Given the description of an element on the screen output the (x, y) to click on. 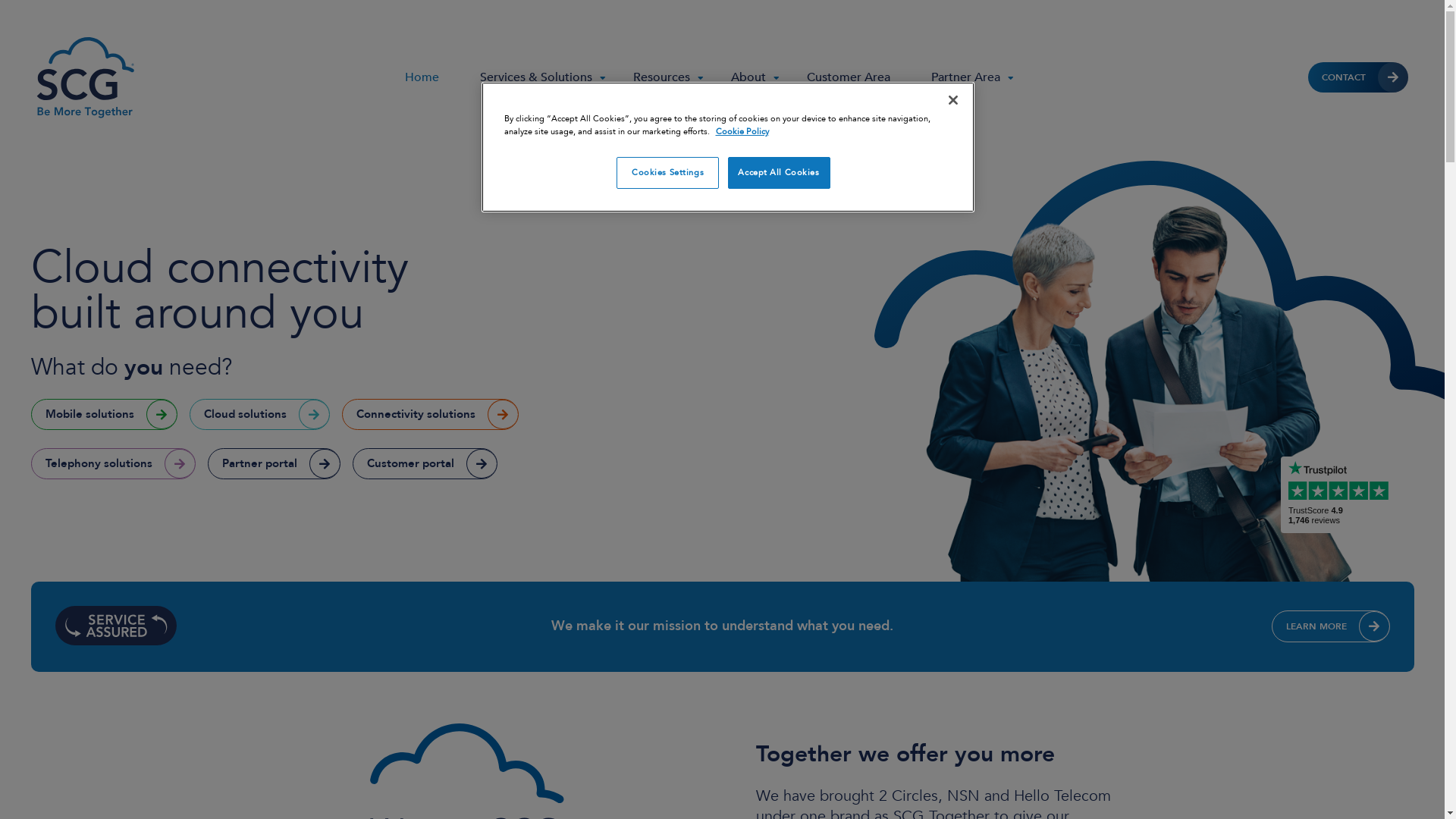
Telephony solutions Element type: text (112, 463)
Customer portal Element type: text (423, 463)
Home Element type: text (421, 77)
Accept All Cookies Element type: text (779, 172)
Cookies Settings Element type: text (667, 172)
Connectivity solutions Element type: text (429, 413)
Mobile solutions Element type: text (103, 413)
Customer Area Element type: text (848, 77)
Cloud solutions Element type: text (259, 413)
Partner Area Element type: text (972, 77)
Partner portal Element type: text (273, 463)
Resources Element type: text (668, 77)
Services & Solutions Element type: text (542, 77)
Customer reviews powered by Trustpilot Element type: hover (1340, 497)
Cookie Policy Element type: text (741, 131)
About Element type: text (755, 77)
CONTACT Element type: text (1358, 77)
LEARN MORE Element type: text (1329, 626)
